Given the description of an element on the screen output the (x, y) to click on. 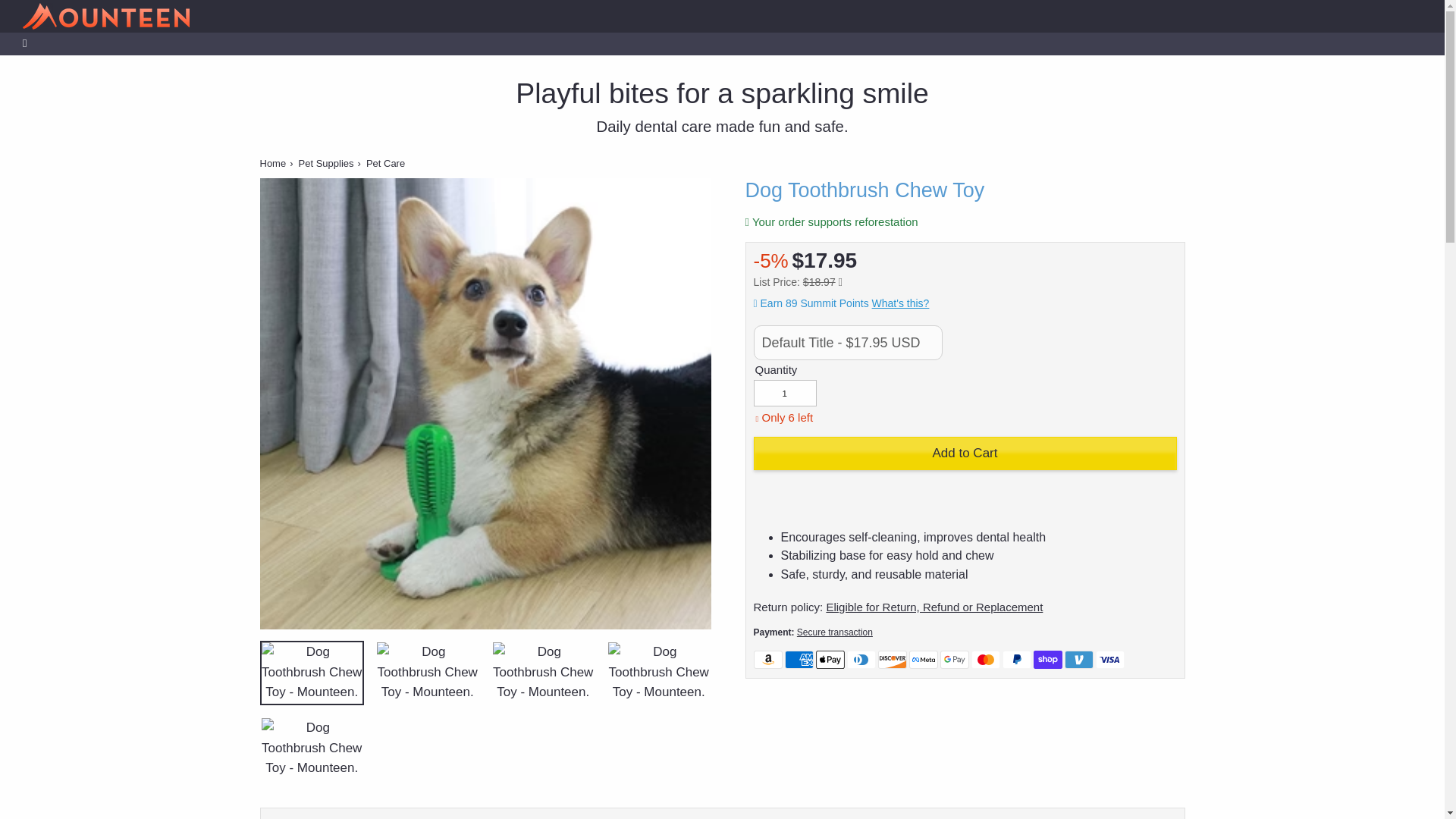
Shop Pay (1046, 659)
Mastercard (984, 659)
Amazon (768, 659)
Home (272, 163)
Visa (1109, 659)
Apple Pay (829, 659)
Discover (892, 659)
Google Pay (954, 659)
Pet Supplies (325, 163)
PayPal (1016, 659)
